Given the description of an element on the screen output the (x, y) to click on. 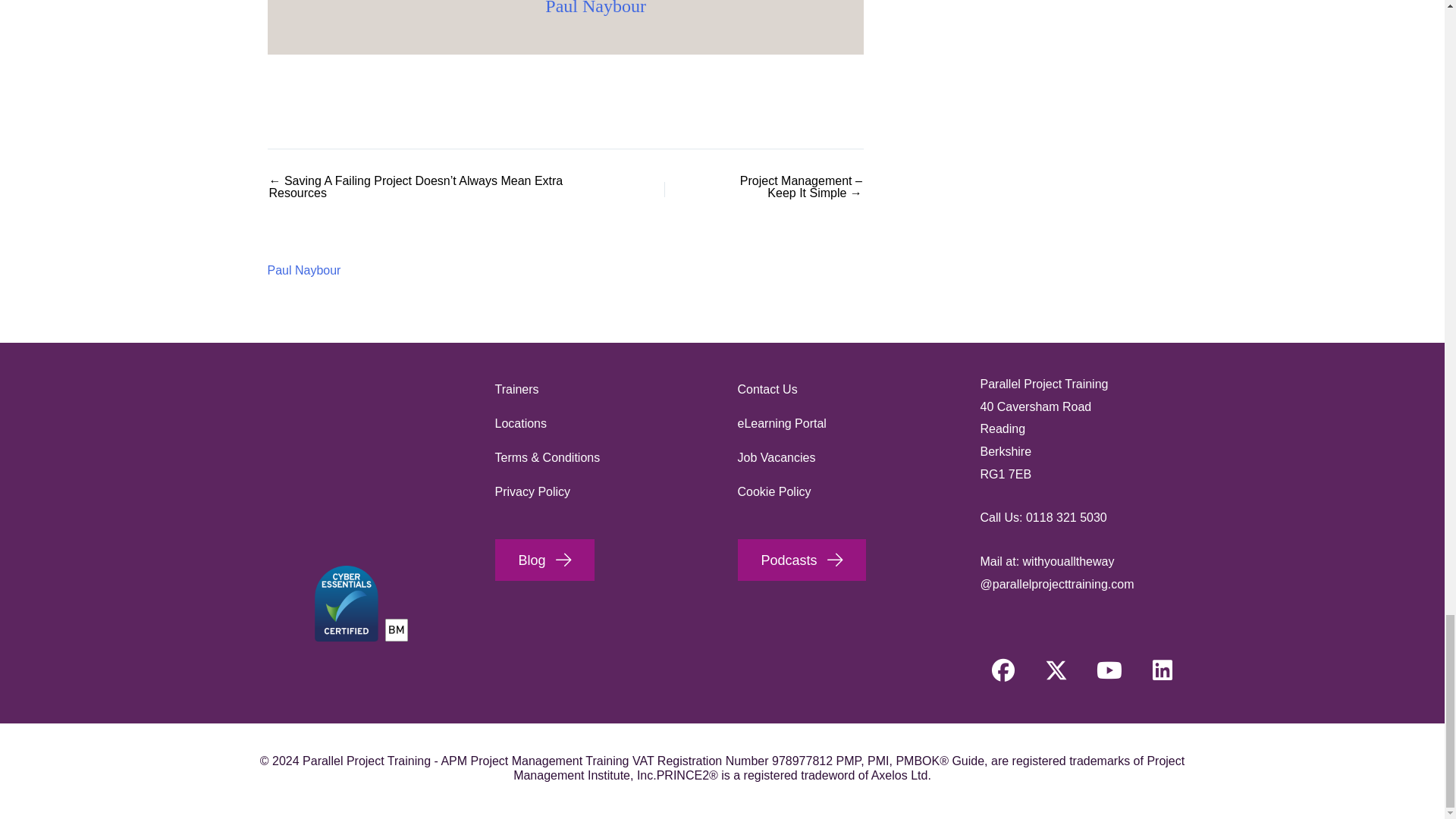
YouTube (1108, 669)
Facebook (1002, 669)
LinkedIn (1161, 669)
white-geese-logo-min (357, 448)
